Given the description of an element on the screen output the (x, y) to click on. 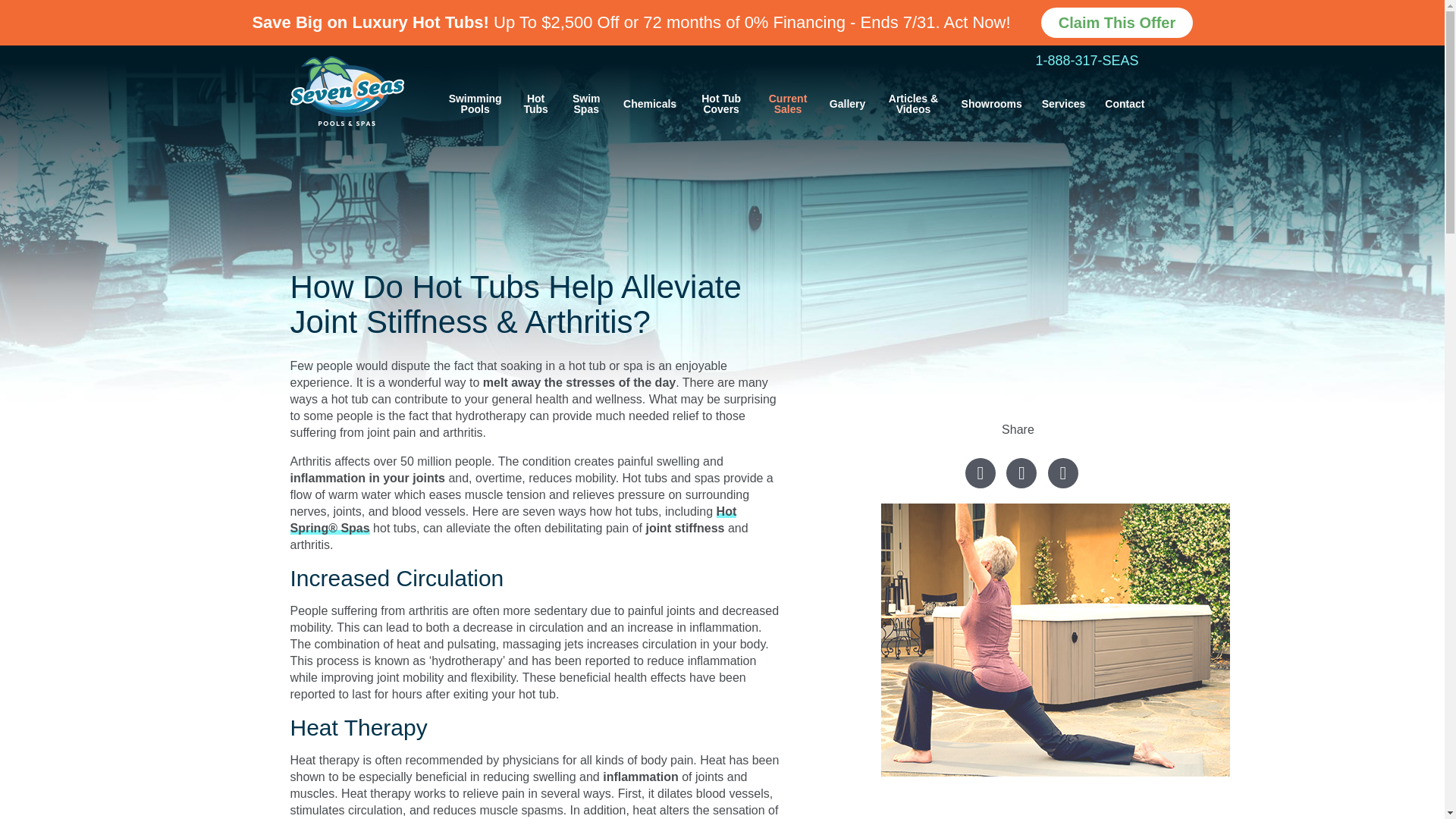
Swimming Pools (474, 103)
Hot Spring Spas (512, 519)
Hot Tub Covers (721, 103)
Claim This Offer (1108, 19)
Swim Spas (585, 103)
Gallery (847, 103)
Hot Tubs (536, 103)
Showrooms (991, 103)
1-888-317-SEAS (1094, 60)
Services (1063, 103)
Contact (1124, 103)
Current Sales (787, 103)
Chemicals (649, 103)
